Given the description of an element on the screen output the (x, y) to click on. 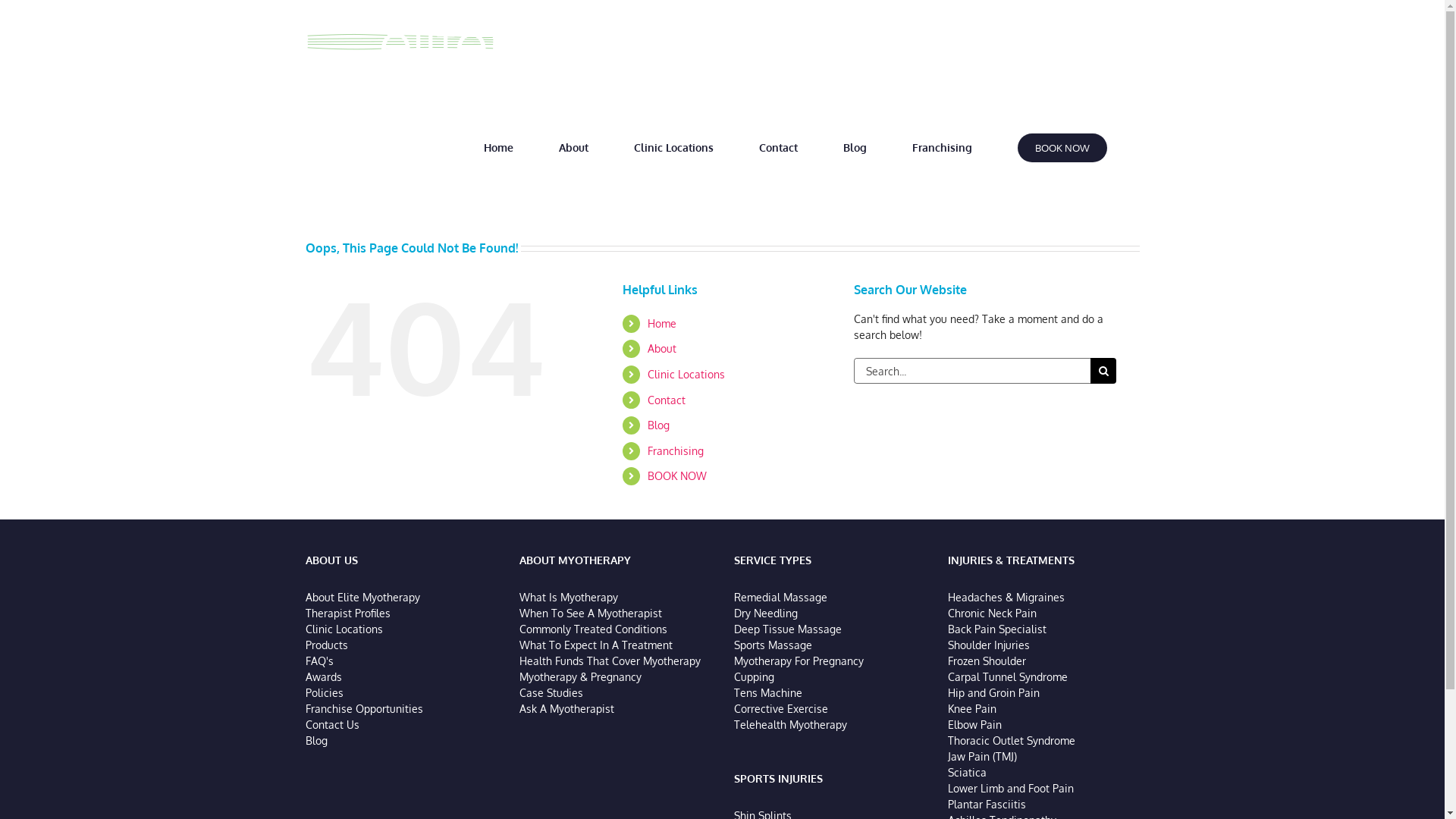
Carpal Tunnel Syndrome Element type: text (1007, 676)
Sciatica Element type: text (966, 771)
Blog Element type: text (854, 147)
Contact Element type: text (666, 399)
Contact Element type: text (778, 147)
Myotherapy & Pregnancy Element type: text (580, 676)
About Element type: text (574, 147)
Therapist Profiles Element type: text (346, 612)
Hip and Groin Pain Element type: text (993, 692)
Case Studies Element type: text (551, 692)
Health Funds That Cover Myotherapy Element type: text (609, 660)
Dry Needling Element type: text (765, 612)
FAQ's Element type: text (318, 660)
Policies Element type: text (323, 692)
Awards Element type: text (322, 676)
Sports Massage Element type: text (773, 644)
Blog Element type: text (315, 740)
Lower Limb and Foot Pain Element type: text (1010, 787)
Plantar Fasciitis Element type: text (986, 803)
Corrective Exercise Element type: text (781, 708)
BOOK NOW Element type: text (676, 475)
Remedial Massage Element type: text (780, 596)
Thoracic Outlet Syndrome Element type: text (1011, 740)
About Element type: text (661, 348)
Franchising Element type: text (675, 450)
Franchising Element type: text (942, 147)
Chronic Neck Pain Element type: text (991, 612)
Contact Us Element type: text (331, 724)
Home Element type: text (661, 322)
Home Element type: text (498, 147)
Commonly Treated Conditions Element type: text (593, 628)
Clinic Locations Element type: text (343, 628)
Franchise Opportunities Element type: text (363, 708)
Telehealth Myotherapy Element type: text (790, 724)
Jaw Pain (TMJ) Element type: text (981, 755)
Ask A Myotherapist Element type: text (566, 708)
Clinic Locations Element type: text (673, 147)
Shoulder Injuries Element type: text (988, 644)
About Elite Myotherapy Element type: text (361, 596)
Clinic Locations Element type: text (685, 373)
Back Pain Specialist Element type: text (996, 628)
Myotherapy For Pregnancy Element type: text (798, 660)
Products Element type: text (325, 644)
Cupping Element type: text (754, 676)
When To See A Myotherapist Element type: text (590, 612)
Deep Tissue Massage Element type: text (787, 628)
Elbow Pain Element type: text (974, 724)
Knee Pain Element type: text (971, 708)
Blog Element type: text (658, 424)
What To Expect In A Treatment Element type: text (595, 644)
Tens Machine Element type: text (768, 692)
BOOK NOW Element type: text (1062, 147)
Frozen Shoulder Element type: text (986, 660)
What Is Myotherapy Element type: text (568, 596)
Headaches & Migraines Element type: text (1005, 596)
